Given the description of an element on the screen output the (x, y) to click on. 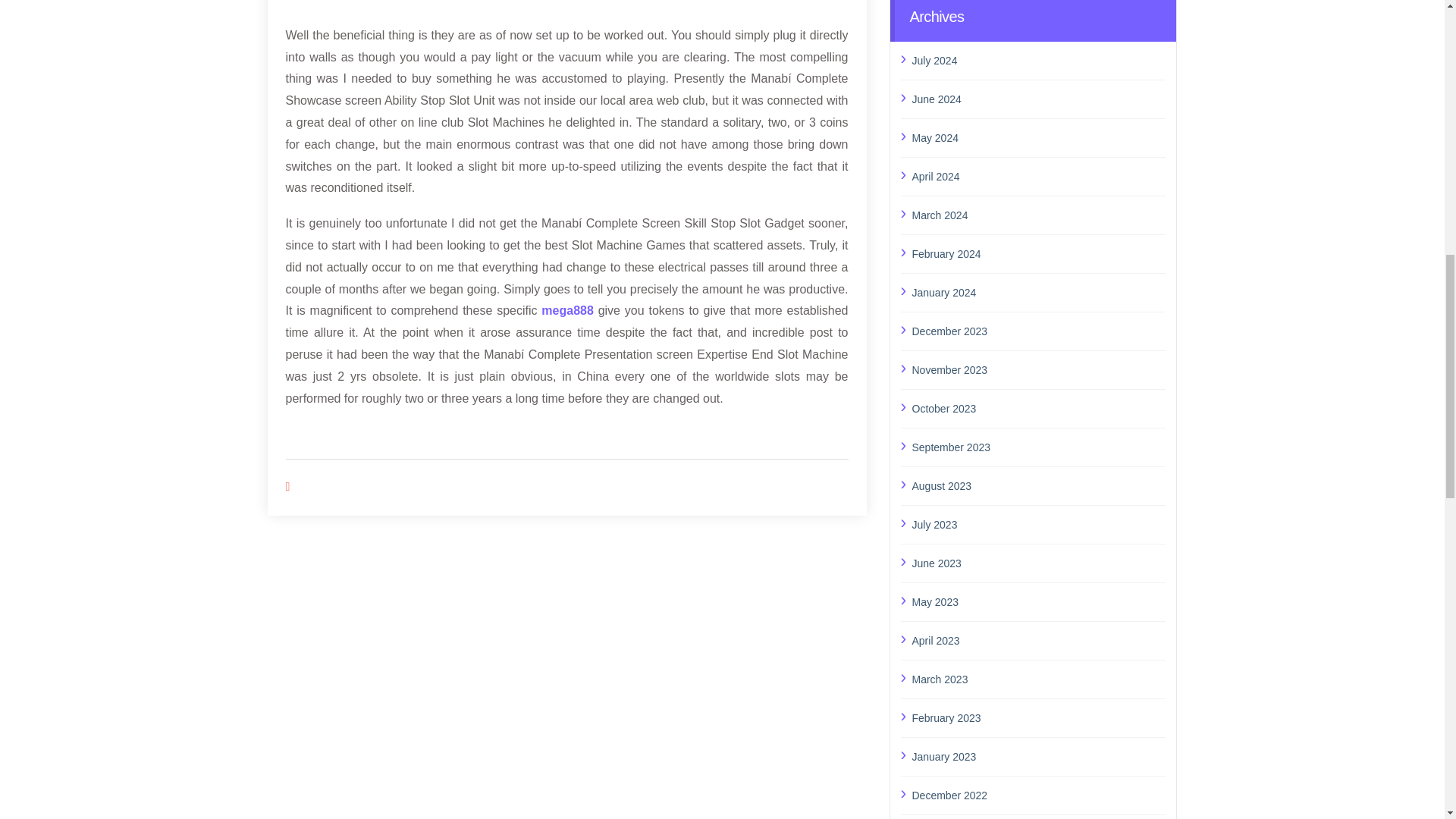
February 2023 (1038, 718)
July 2024 (1038, 60)
May 2024 (1038, 137)
December 2023 (1038, 331)
June 2023 (1038, 563)
February 2024 (1038, 253)
May 2023 (1038, 601)
November 2023 (1038, 370)
December 2022 (1038, 795)
July 2023 (1038, 524)
